Given the description of an element on the screen output the (x, y) to click on. 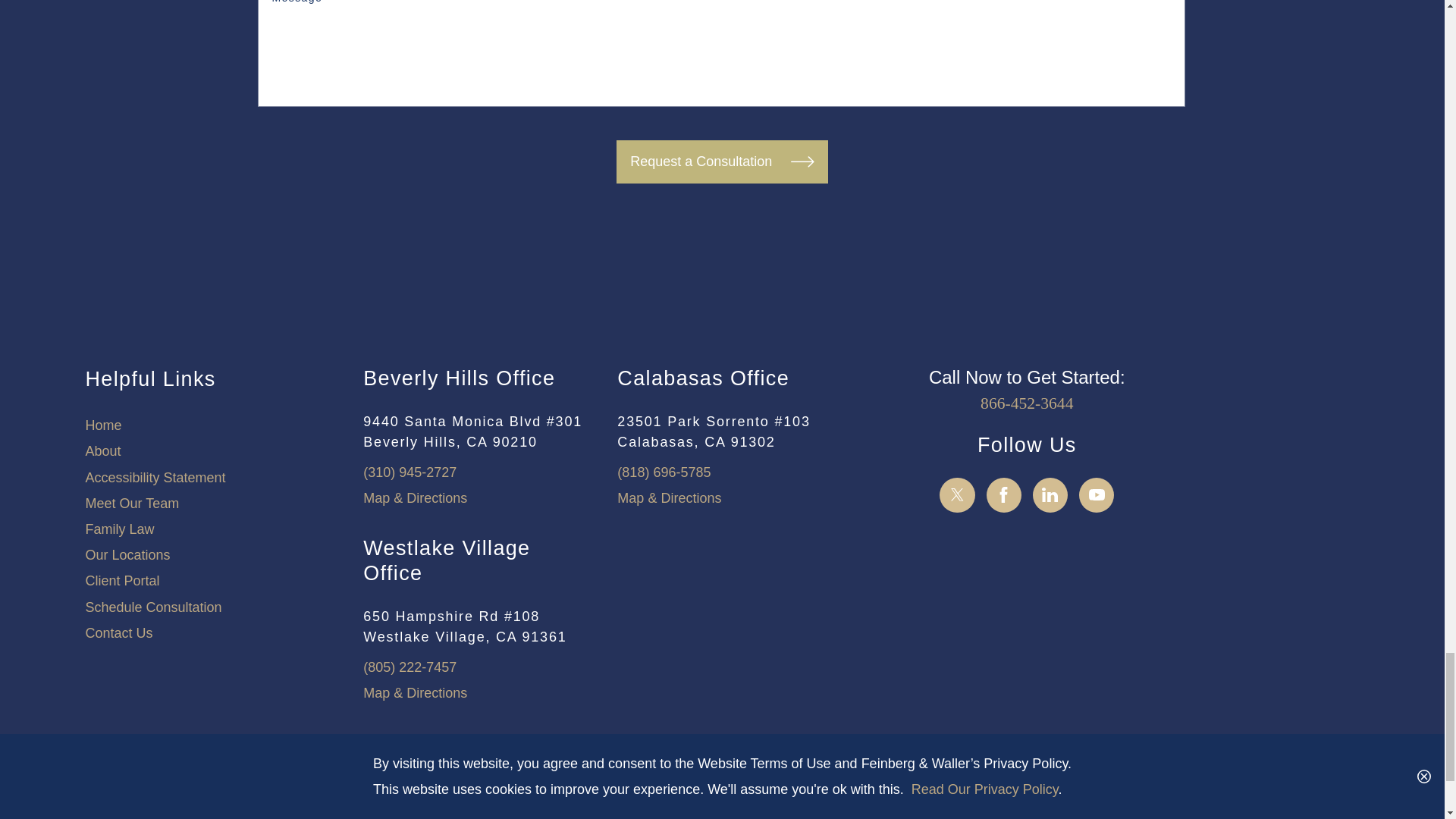
YouTube (1097, 494)
LinkedIn (1050, 494)
Twitter (957, 494)
Facebook (1003, 494)
